Given the description of an element on the screen output the (x, y) to click on. 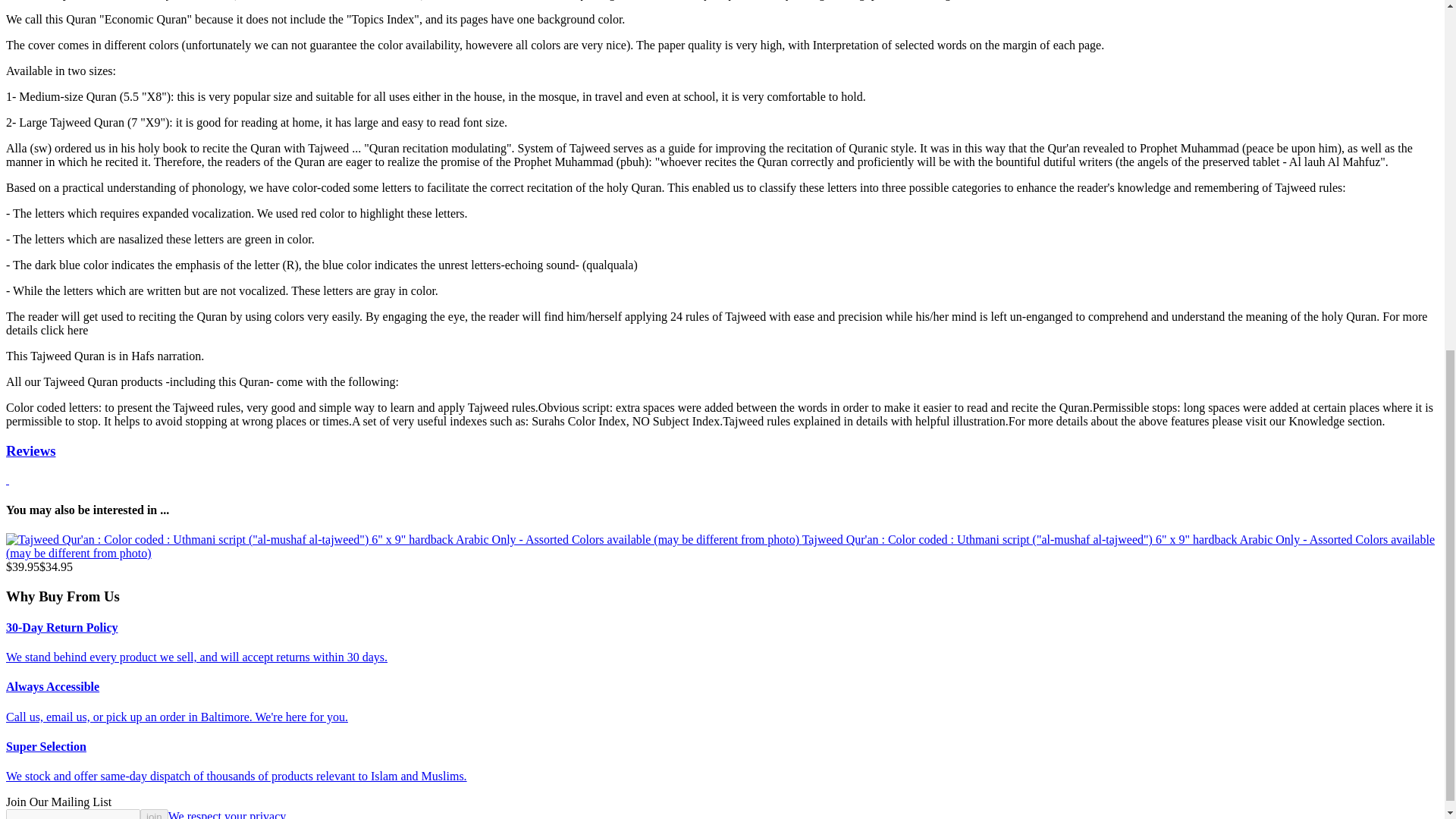
Reviews (30, 450)
